Given the description of an element on the screen output the (x, y) to click on. 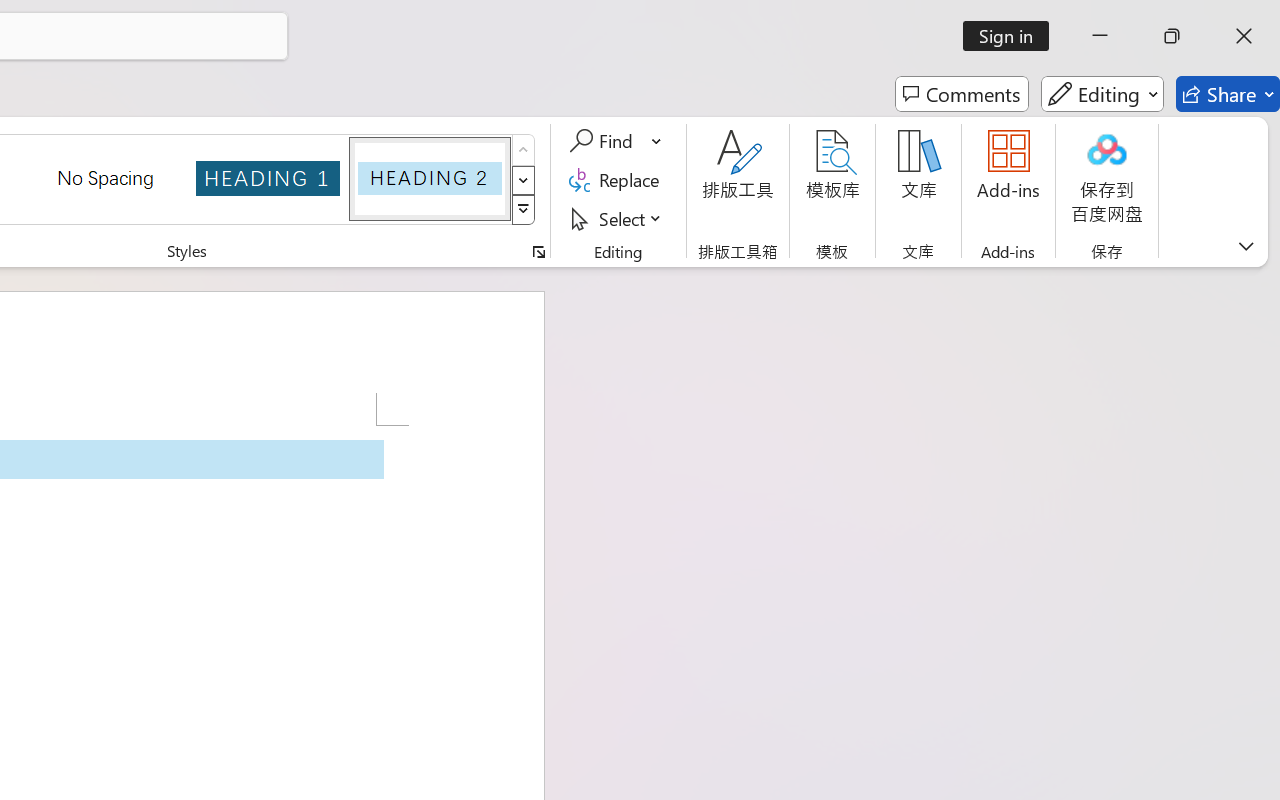
Editing (1101, 94)
Sign in (1012, 35)
